Given the description of an element on the screen output the (x, y) to click on. 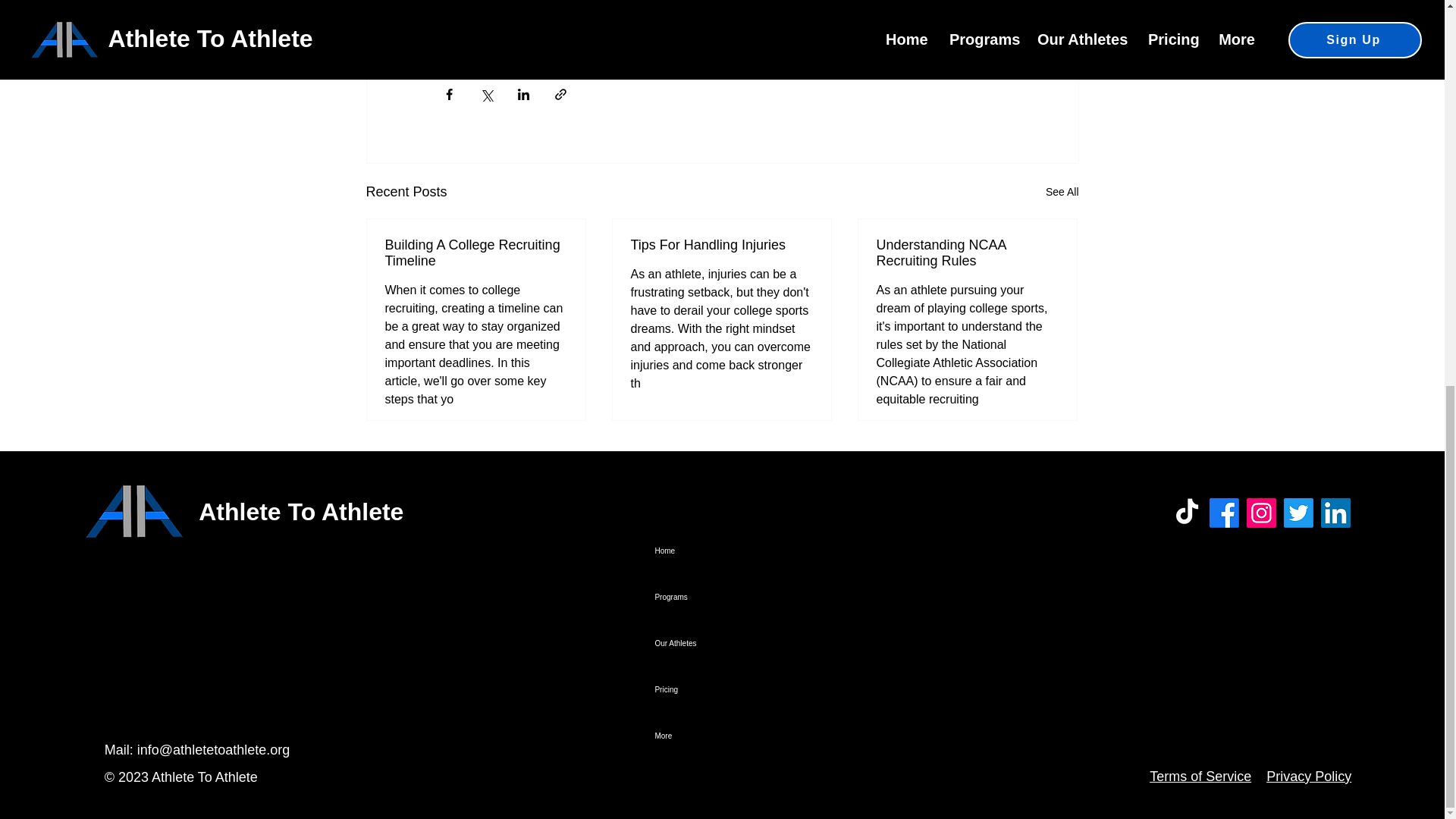
Athlete To Athlete Logo "It Goes Beyond The Game" (133, 512)
Programs (749, 596)
Building A College Recruiting Timeline (476, 253)
Terms of Service (1200, 776)
Tips For Handling Injuries (721, 245)
See All (1061, 191)
Our Athletes (749, 642)
Understanding NCAA Recruiting Rules (967, 253)
Home (749, 550)
Pricing (749, 689)
